Given the description of an element on the screen output the (x, y) to click on. 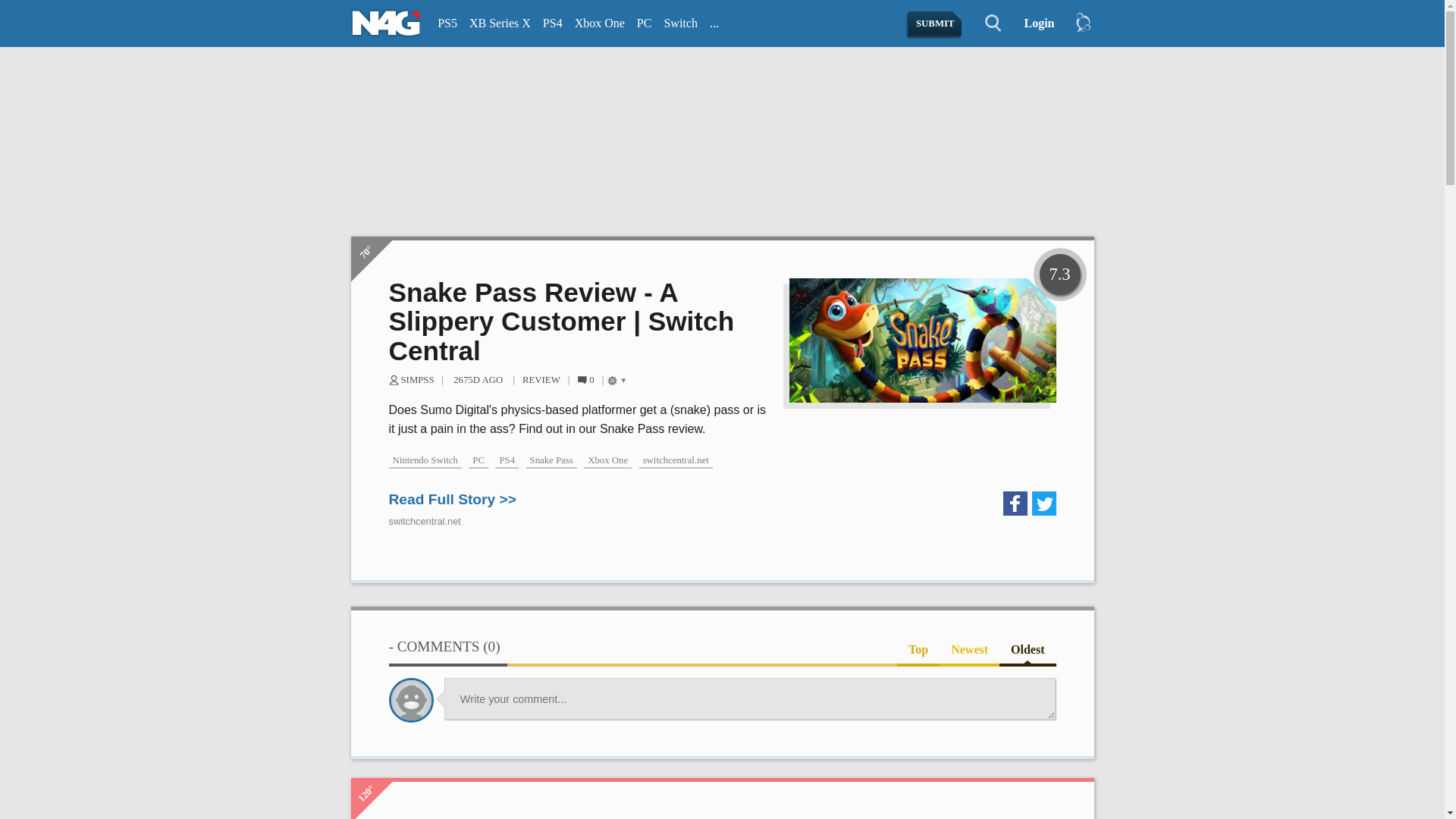
XB Series X (500, 24)
PS5 (446, 24)
PS4 (553, 24)
Switch (680, 24)
Search (984, 23)
Login (1033, 23)
Xbox One (599, 24)
PC (644, 24)
SUBMIT (935, 23)
